Given the description of an element on the screen output the (x, y) to click on. 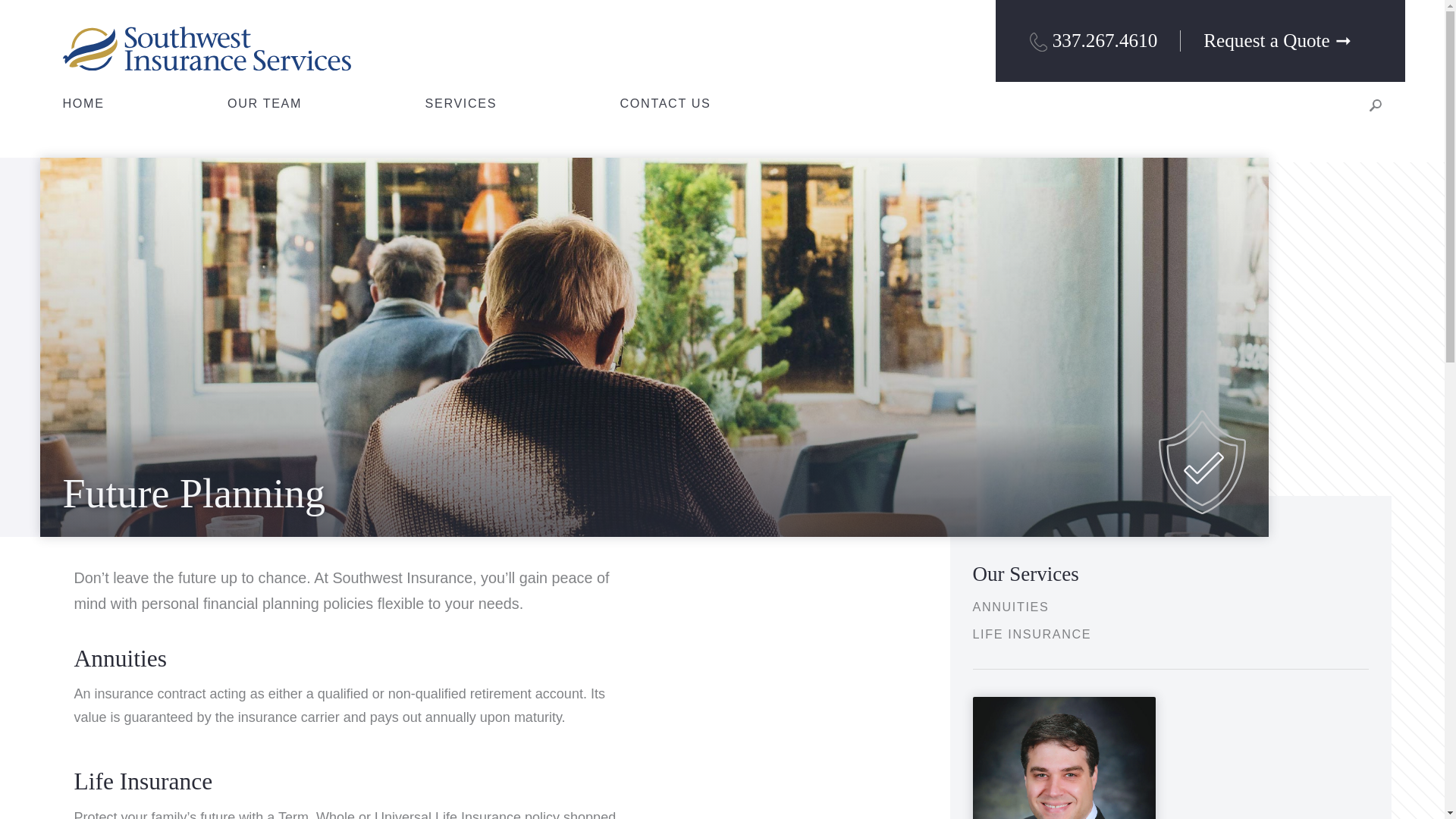
Southwest Insurance (206, 46)
OUR TEAM (264, 102)
HOME (82, 102)
SERVICES (461, 102)
Request a Quote (1287, 40)
CONTACT US (665, 102)
